Given the description of an element on the screen output the (x, y) to click on. 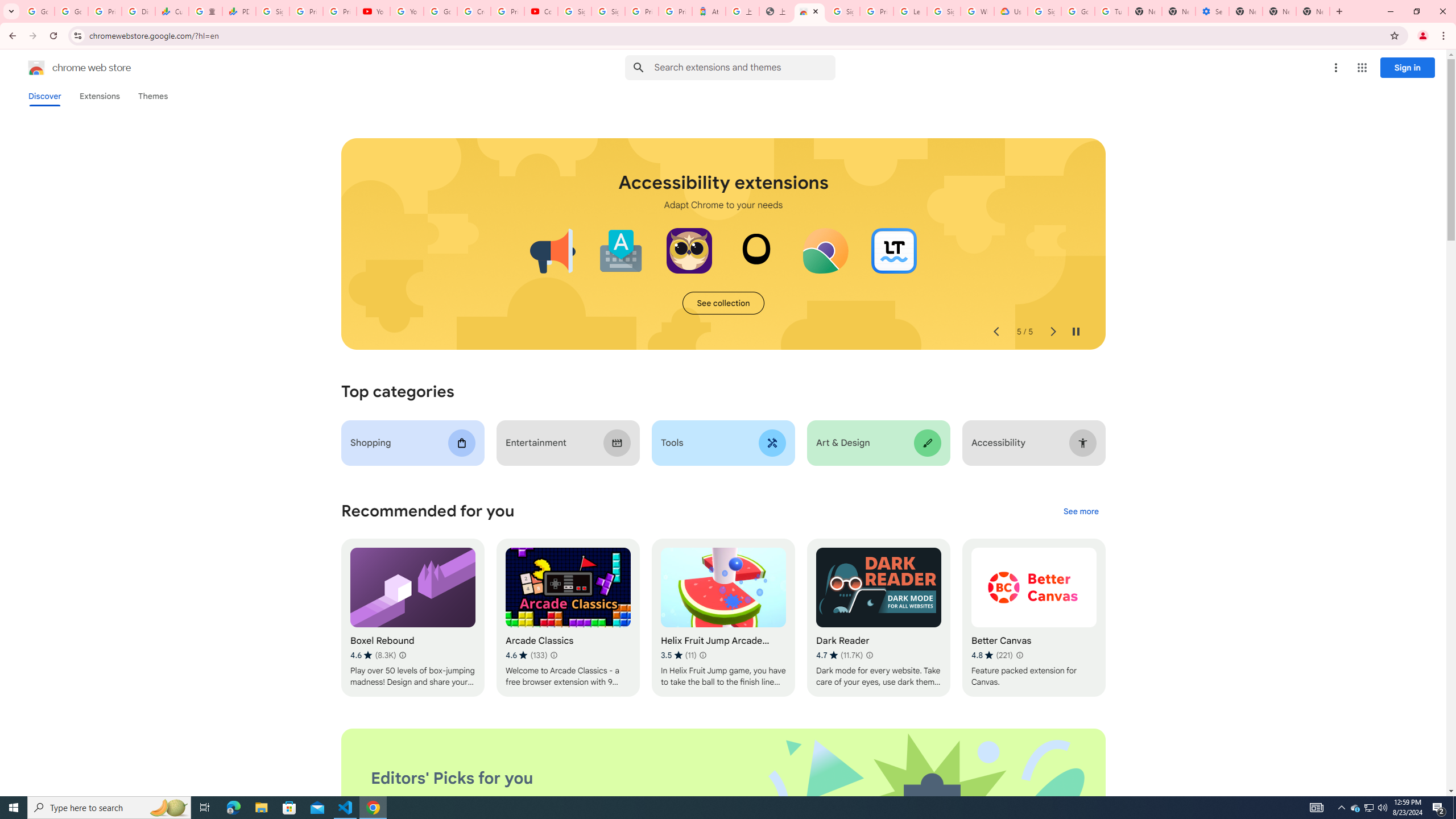
Tools (722, 443)
Sign in - Google Accounts (608, 11)
View site information (77, 35)
Google Account Help (441, 11)
Search tabs (10, 11)
PDD Holdings Inc - ADR (PDD) Price & News - Google Finance (238, 11)
Sign in (1407, 67)
Extensions (99, 95)
